Given the description of an element on the screen output the (x, y) to click on. 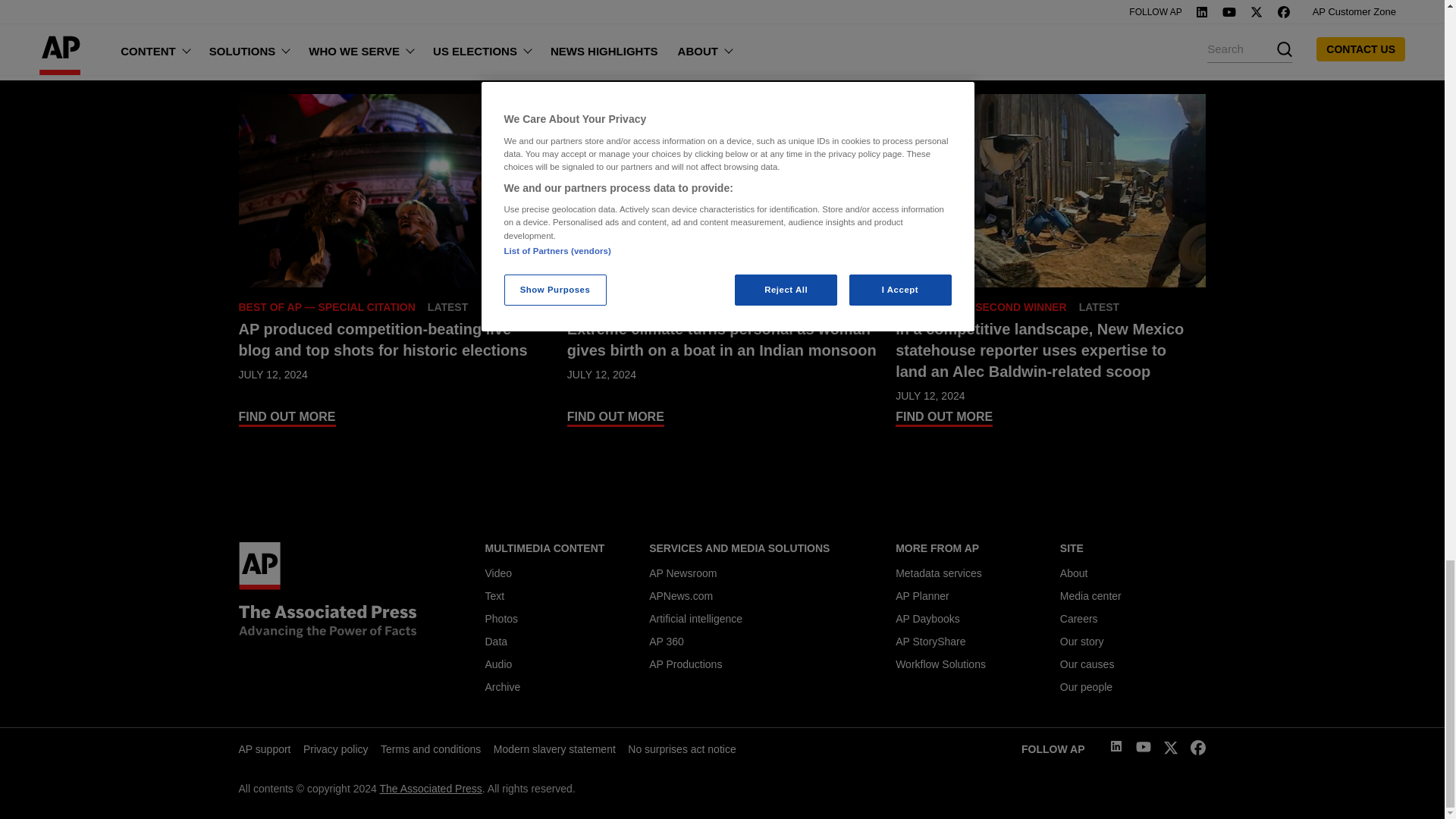
Twitter (1170, 750)
Youtube (1143, 748)
Linkedin (1116, 748)
Facebook (1198, 750)
